Given the description of an element on the screen output the (x, y) to click on. 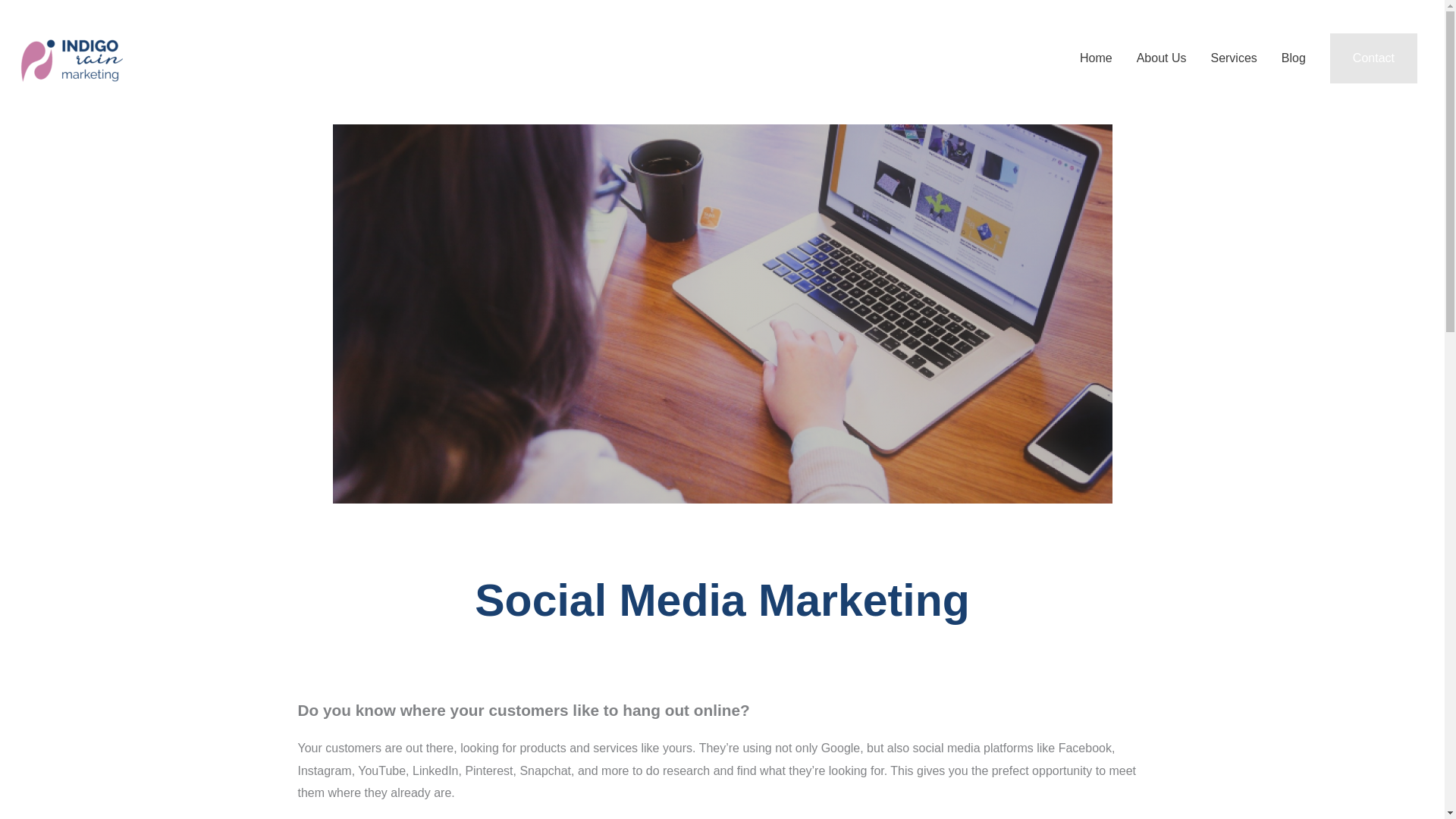
Services (1233, 58)
Blog (1293, 58)
Home (1095, 58)
About Us (1161, 58)
Contact (1373, 58)
